Given the description of an element on the screen output the (x, y) to click on. 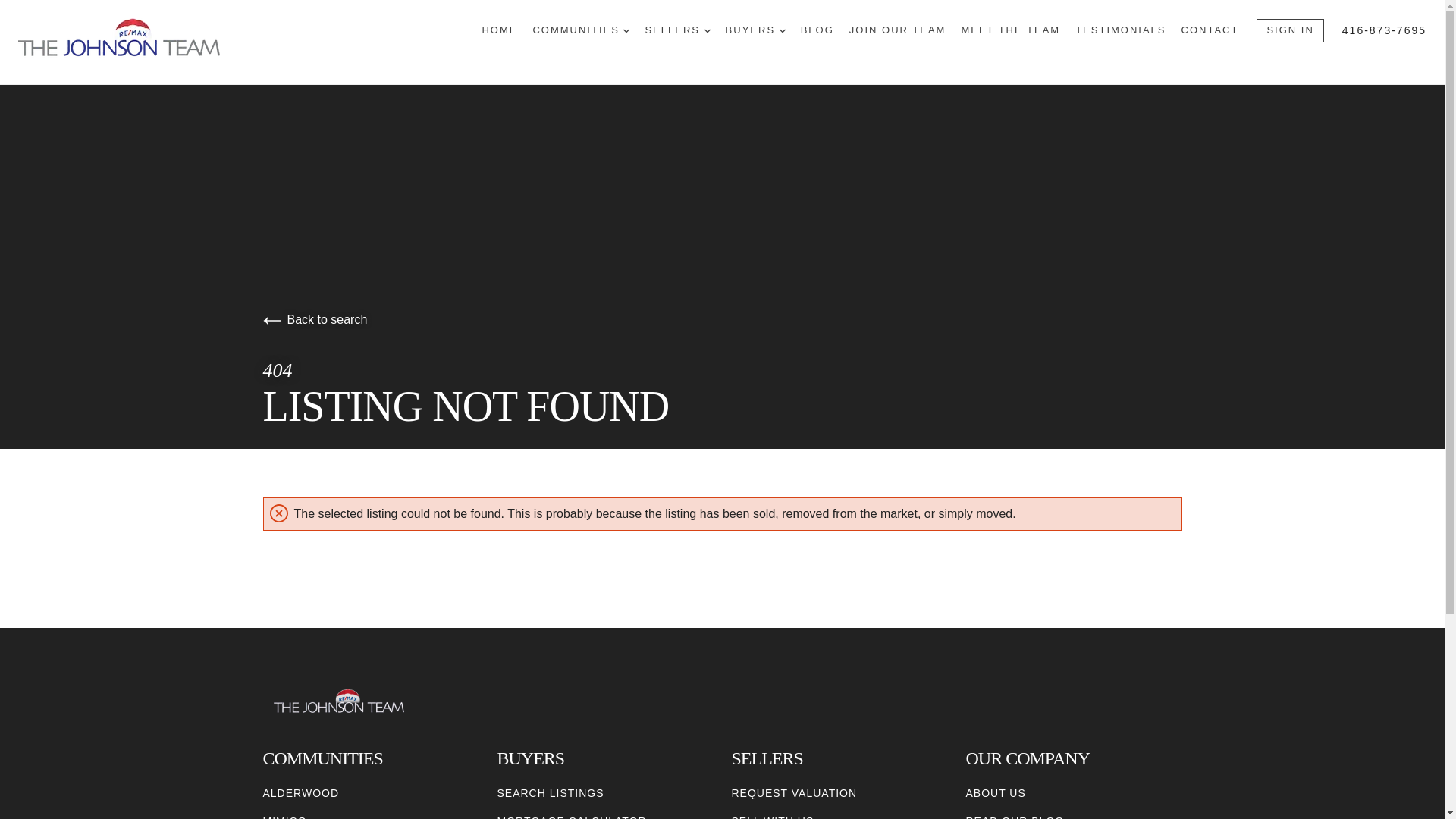
ALDERWOOD (300, 793)
SELLERS DROPDOWN ARROW (677, 30)
JOIN OUR TEAM (897, 30)
DROPDOWN ARROW (625, 30)
MEET THE TEAM (1009, 30)
MIMICO (283, 816)
TESTIMONIALS (1120, 30)
Back to search (314, 318)
HOME (498, 30)
BUYERS DROPDOWN ARROW (755, 30)
416-873-7695 (1384, 29)
DROPDOWN ARROW (782, 30)
SIGN IN (1289, 30)
COMMUNITIES DROPDOWN ARROW (580, 30)
DROPDOWN ARROW (707, 30)
